Given the description of an element on the screen output the (x, y) to click on. 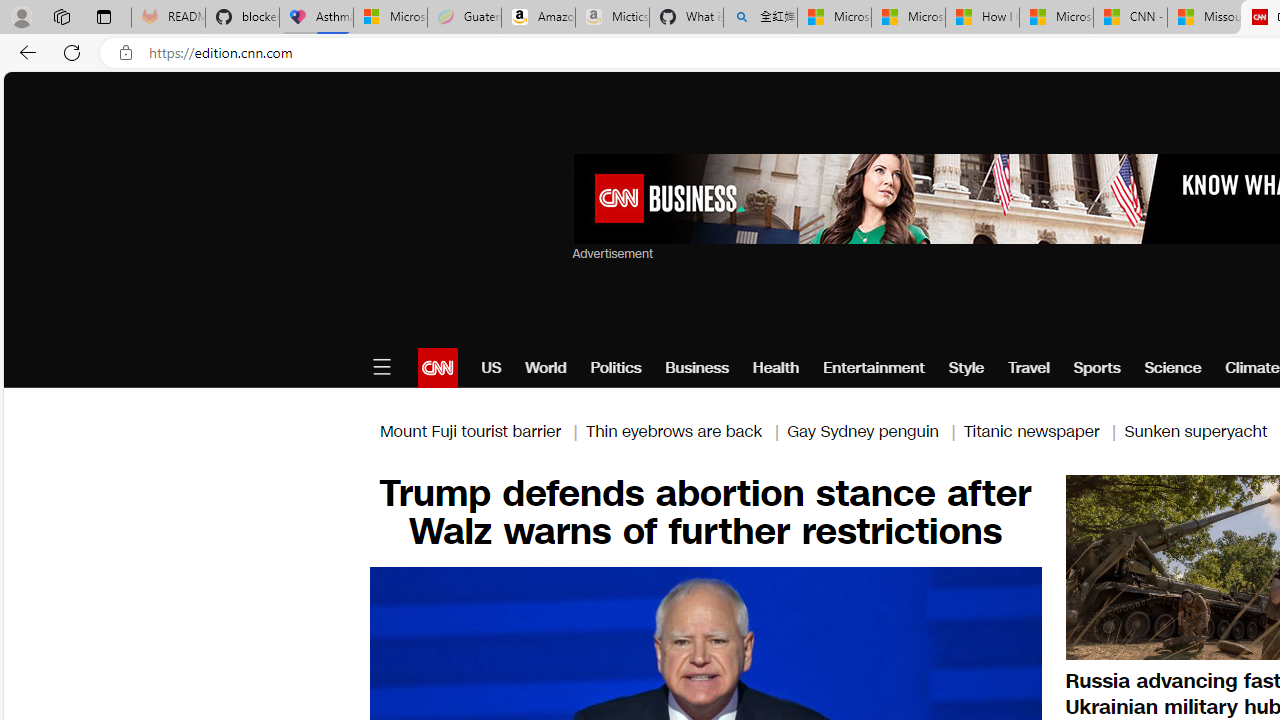
US (491, 367)
Titanic newspaper | (1043, 430)
Open Menu Icon (381, 367)
CNN logo (437, 367)
